Given the description of an element on the screen output the (x, y) to click on. 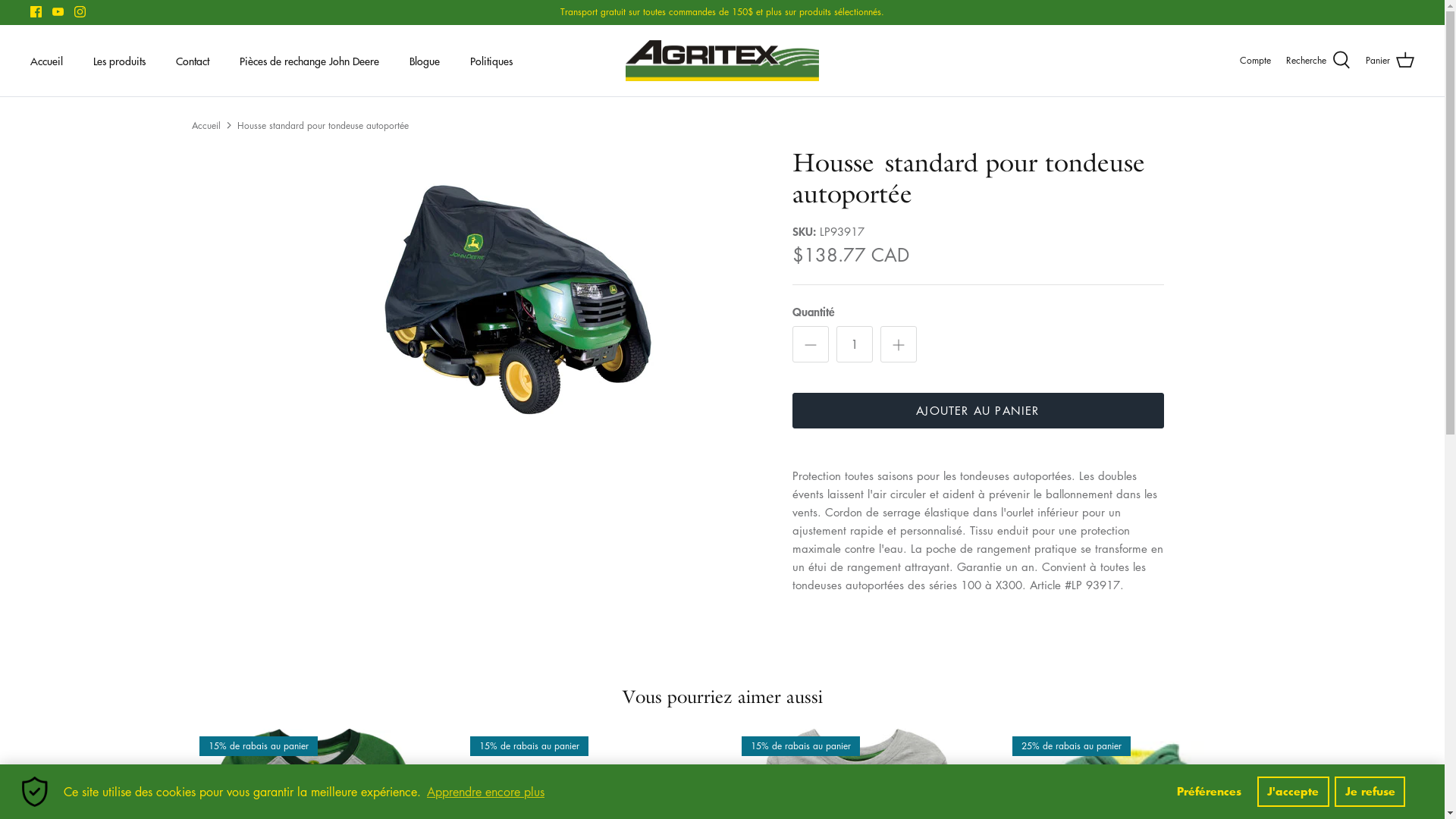
Instagram Element type: text (79, 11)
AJOUTER AU PANIER Element type: text (977, 410)
Accueil Element type: text (46, 60)
Blogue Element type: text (424, 60)
Agritex-Boutique Element type: hover (722, 60)
Compte Element type: text (1254, 60)
Youtube Element type: text (57, 11)
Plus Element type: text (897, 344)
Accueil Element type: text (205, 124)
Contact Element type: text (192, 60)
Les produits Element type: text (119, 60)
Recherche Element type: text (1318, 60)
Je refuse Element type: text (1369, 791)
J'accepte Element type: text (1293, 791)
Facebook Element type: text (35, 11)
Moins Element type: text (809, 344)
Apprendre encore plus Element type: text (485, 791)
Politiques Element type: text (491, 60)
Panier Element type: text (1389, 60)
